Given the description of an element on the screen output the (x, y) to click on. 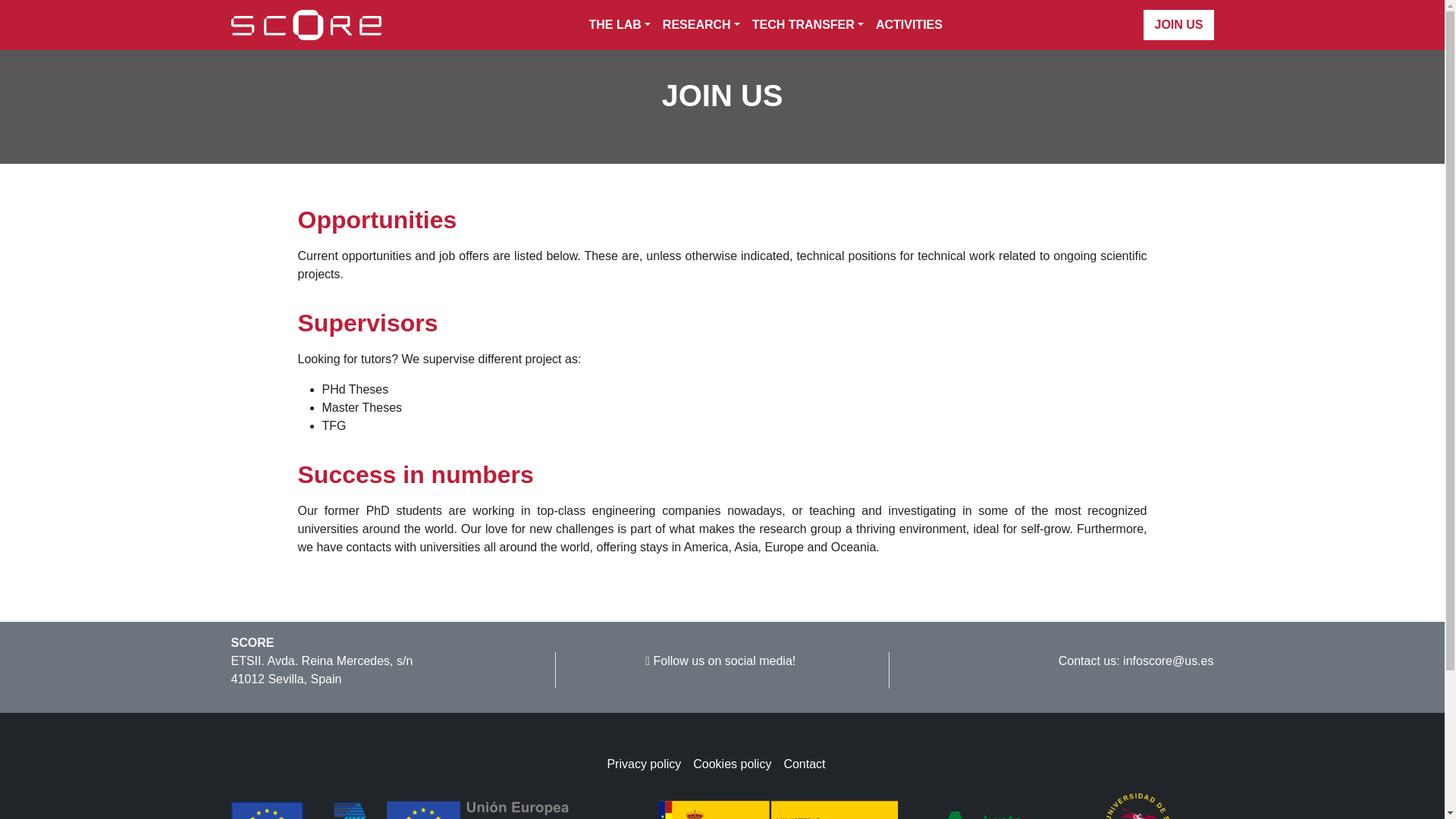
Cookies policy (738, 764)
ACTIVITIES (905, 24)
THE LAB (619, 24)
TECH TRANSFER (807, 24)
JOIN US (1177, 24)
RESEARCH (700, 24)
Follow us on social media!  (721, 660)
Contact (810, 764)
Privacy policy (650, 764)
